Given the description of an element on the screen output the (x, y) to click on. 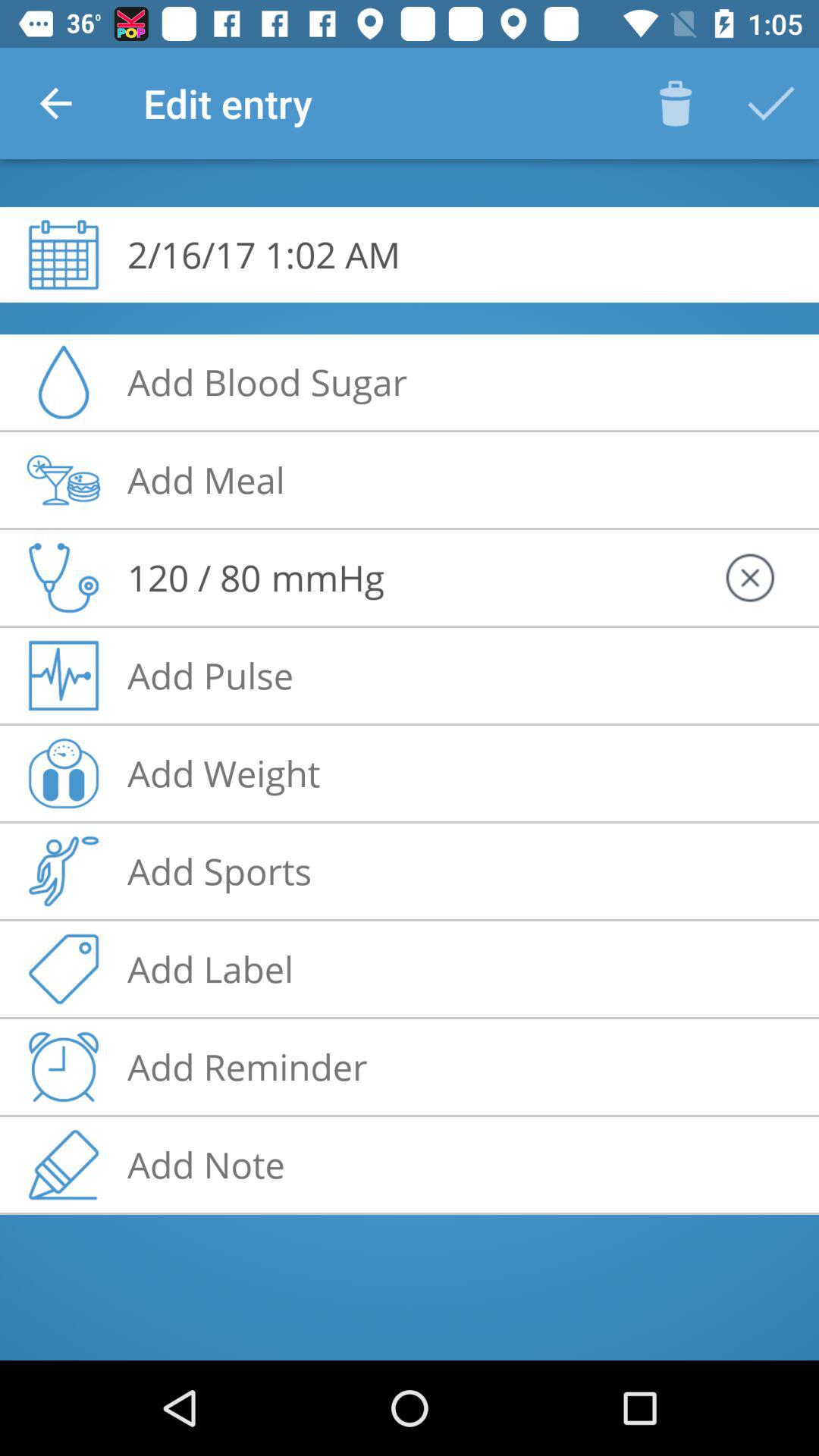
turn on icon to the left of mmhg (194, 577)
